Given the description of an element on the screen output the (x, y) to click on. 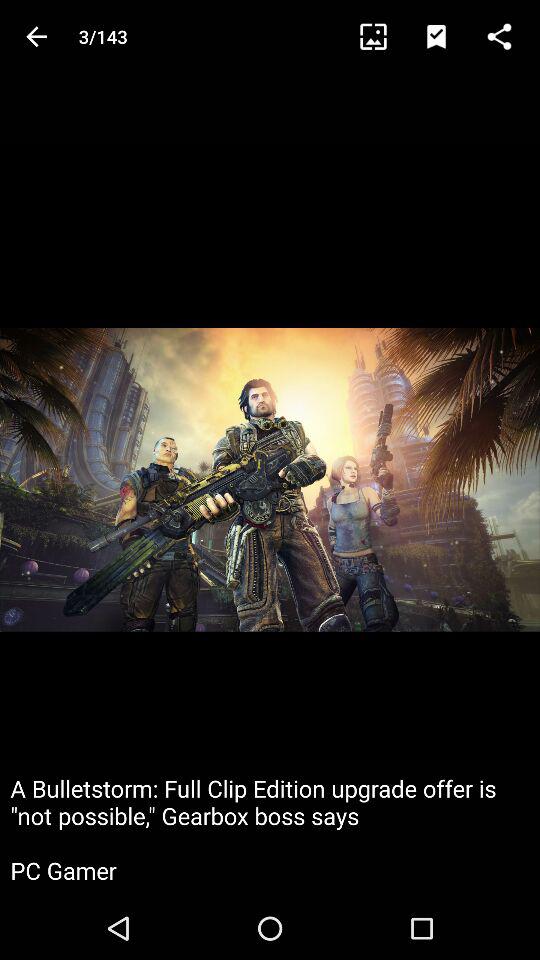
go to share (508, 36)
